Given the description of an element on the screen output the (x, y) to click on. 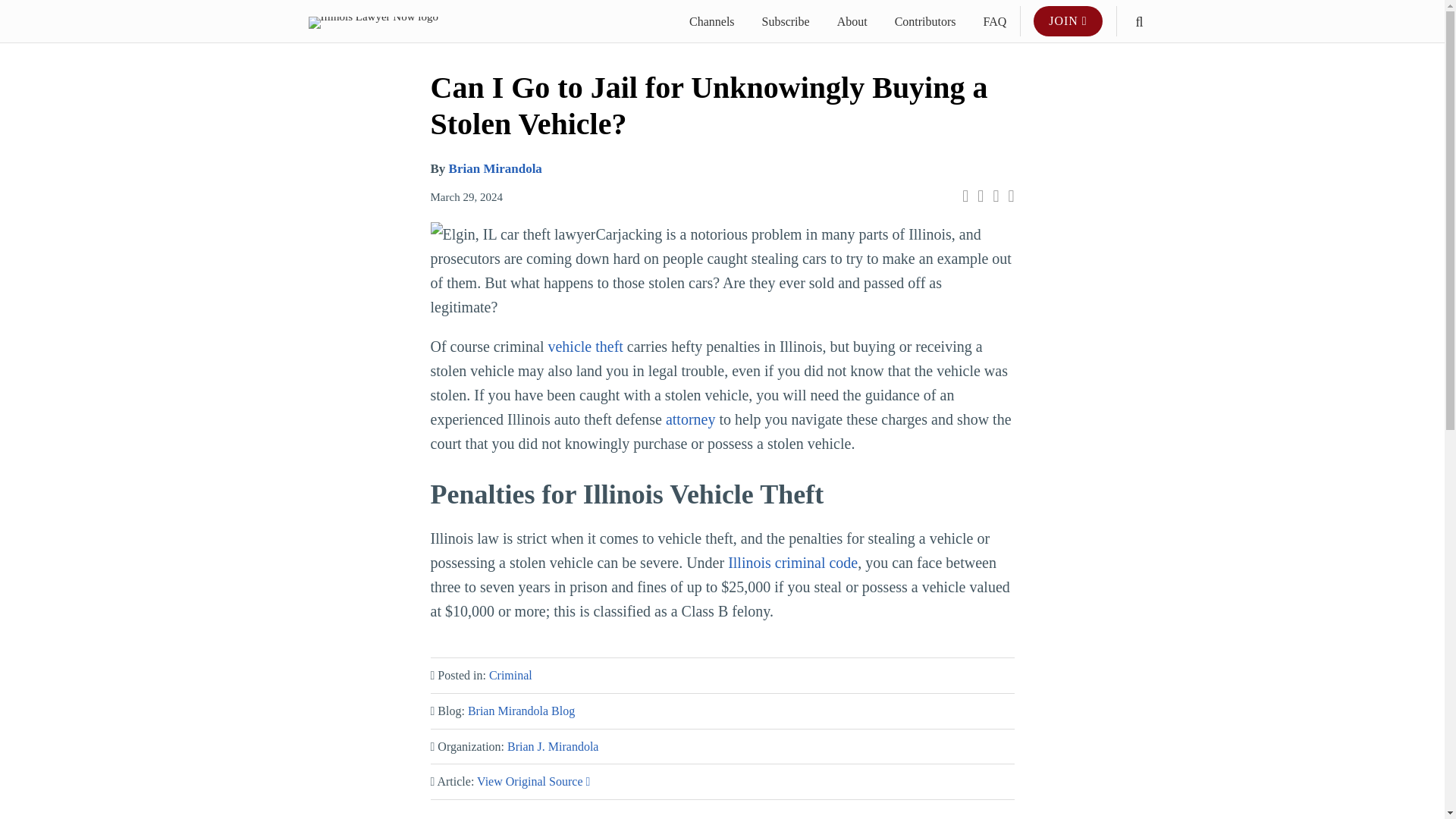
Channels (711, 22)
Brian Mirandola Blog (521, 710)
attorney (689, 419)
View Original Source (533, 780)
Brian Mirandola (494, 168)
JOIN (1067, 20)
FAQ (995, 22)
Brian J. Mirandola (552, 746)
Illinois criminal code (790, 562)
vehicle theft (585, 346)
Contributors (925, 22)
Subscribe (785, 22)
About (852, 22)
Criminal (510, 675)
